Given the description of an element on the screen output the (x, y) to click on. 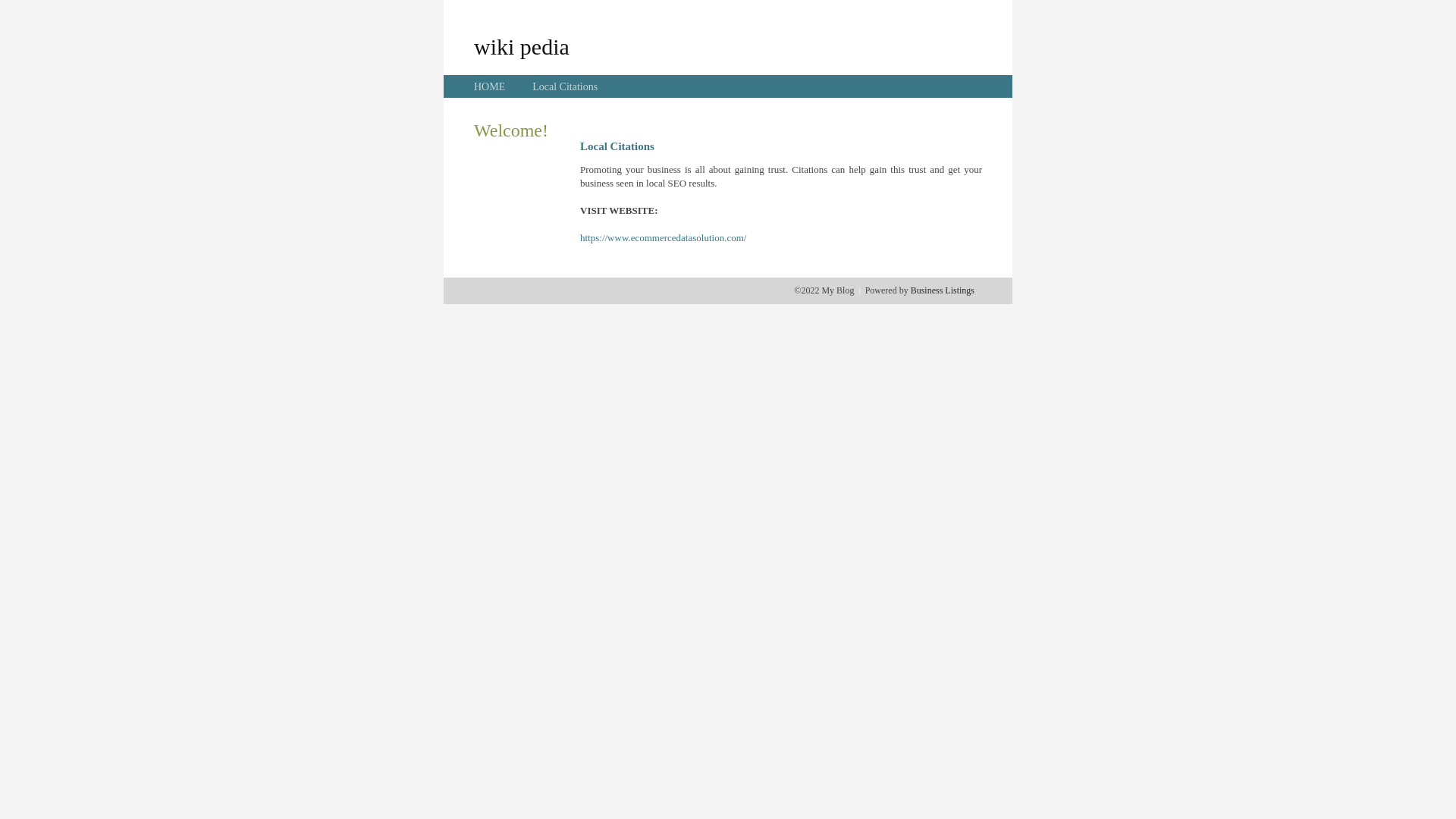
Local Citations Element type: text (564, 86)
https://www.ecommercedatasolution.com/ Element type: text (663, 237)
Business Listings Element type: text (942, 290)
wiki pedia Element type: text (521, 46)
HOME Element type: text (489, 86)
